Given the description of an element on the screen output the (x, y) to click on. 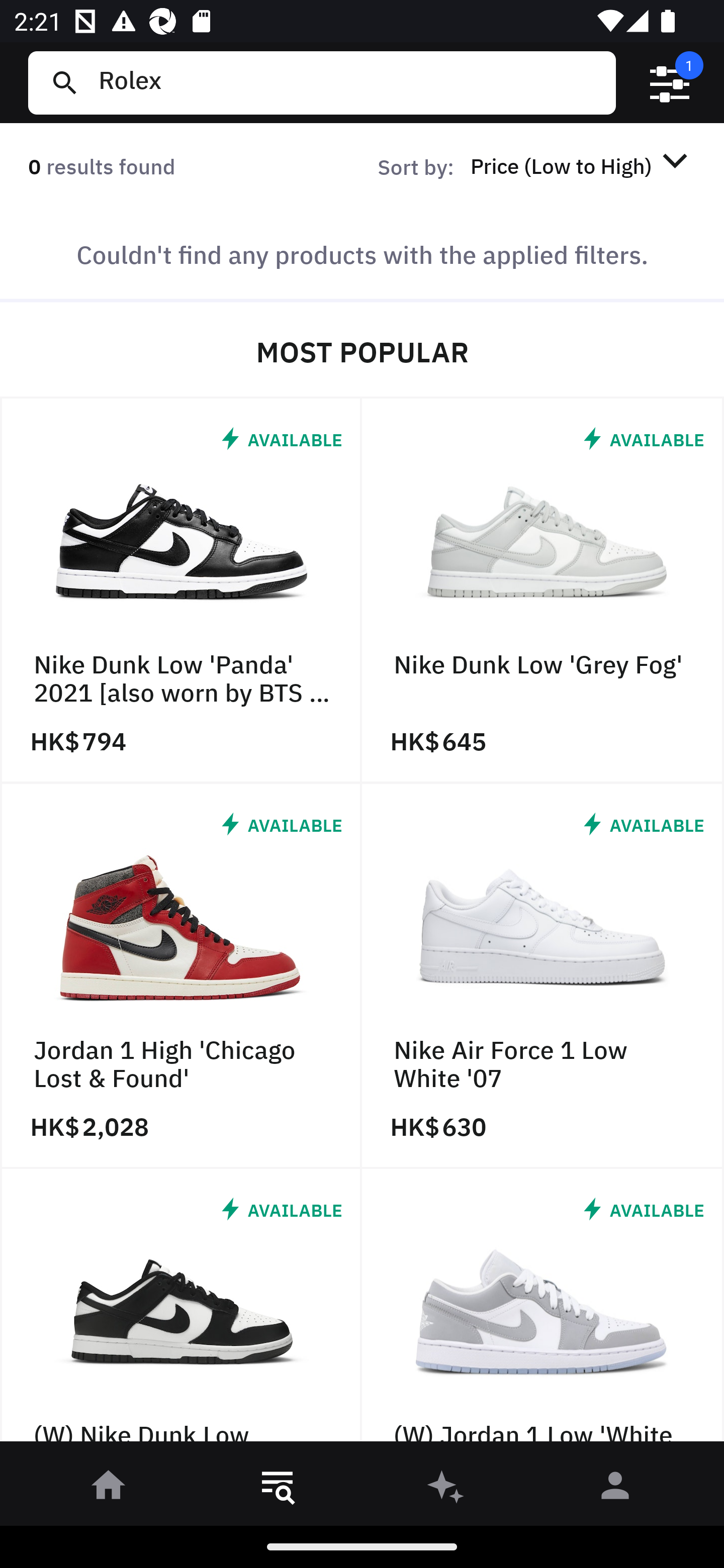
Rolex (349, 82)
 (669, 82)
Price (Low to High)  (582, 165)
 AVAILABLE Nike Dunk Low 'Grey Fog' HK$ 645 (543, 591)
 AVAILABLE Nike Air Force 1 Low White '07 HK$ 630 (543, 976)
 AVAILABLE (W) Nike Dunk Low 'Panda' 2021 (181, 1309)
 AVAILABLE (W) Jordan 1 Low 'White Wolf Grey' (543, 1309)
󰋜 (108, 1488)
󱎸 (277, 1488)
󰫢 (446, 1488)
󰀄 (615, 1488)
